Given the description of an element on the screen output the (x, y) to click on. 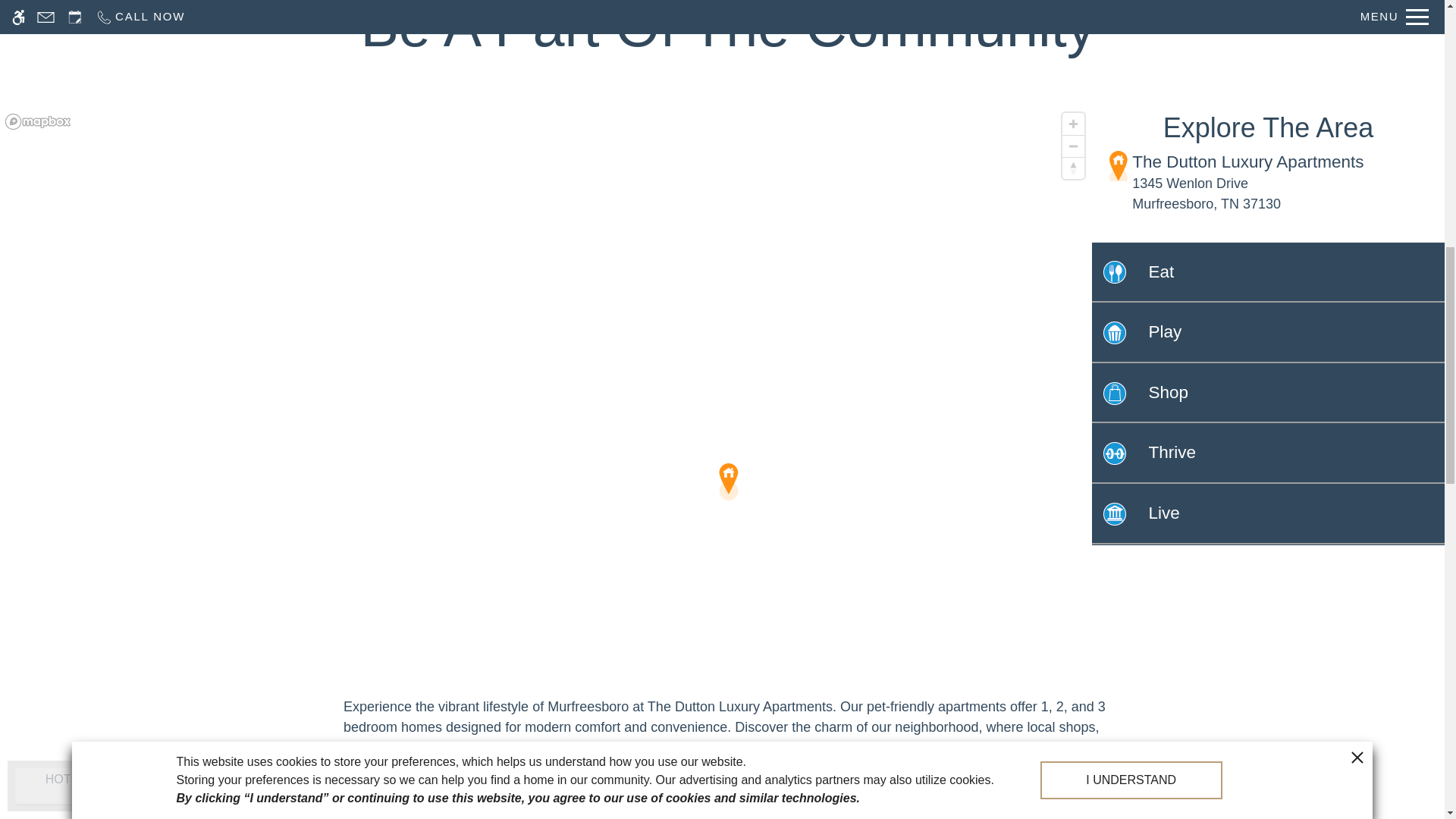
Reset bearing to north (1073, 168)
Zoom out (1073, 146)
Zoom in (1073, 124)
